Given the description of an element on the screen output the (x, y) to click on. 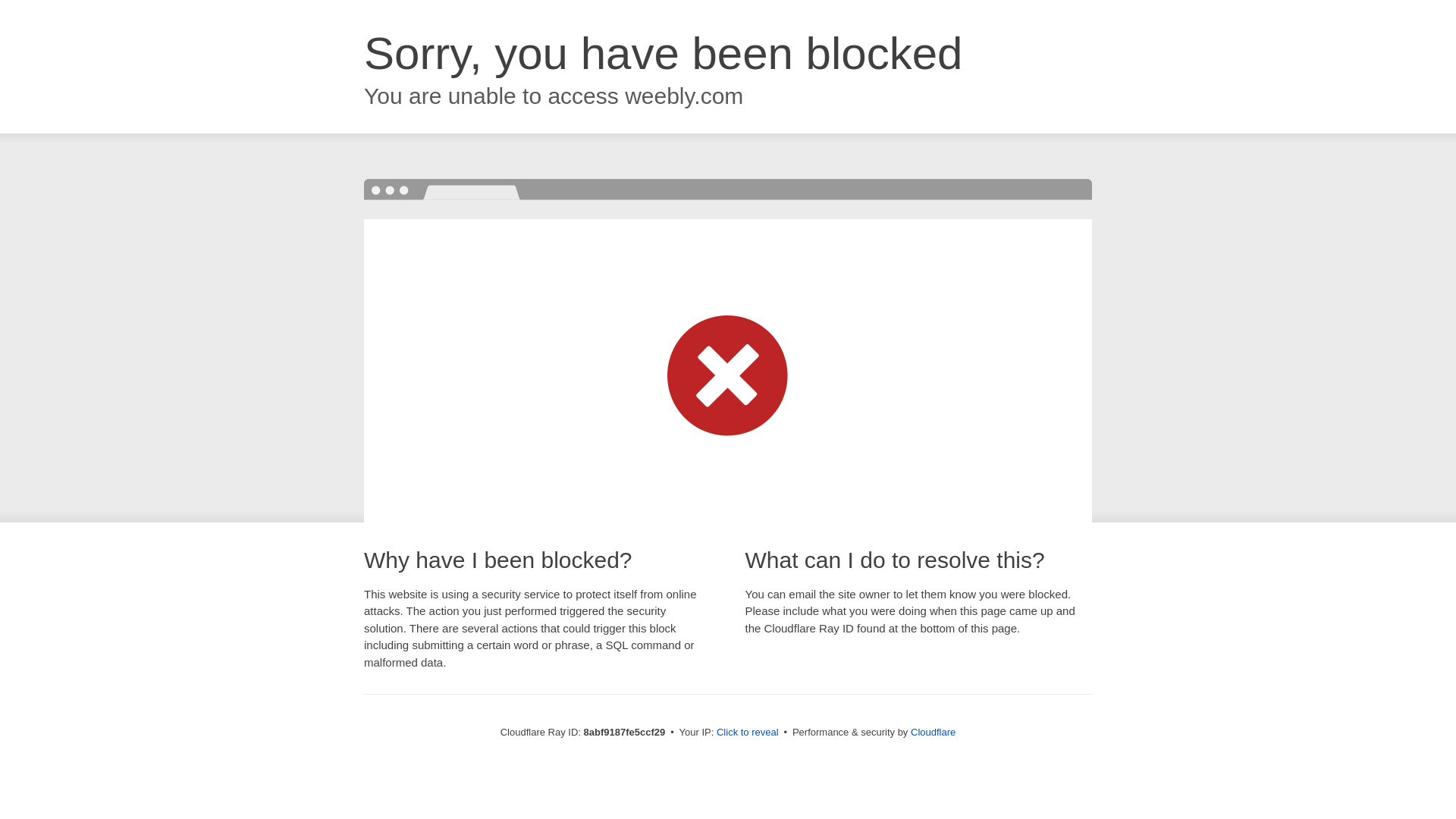
Click to reveal (747, 732)
Cloudflare (933, 731)
